Given the description of an element on the screen output the (x, y) to click on. 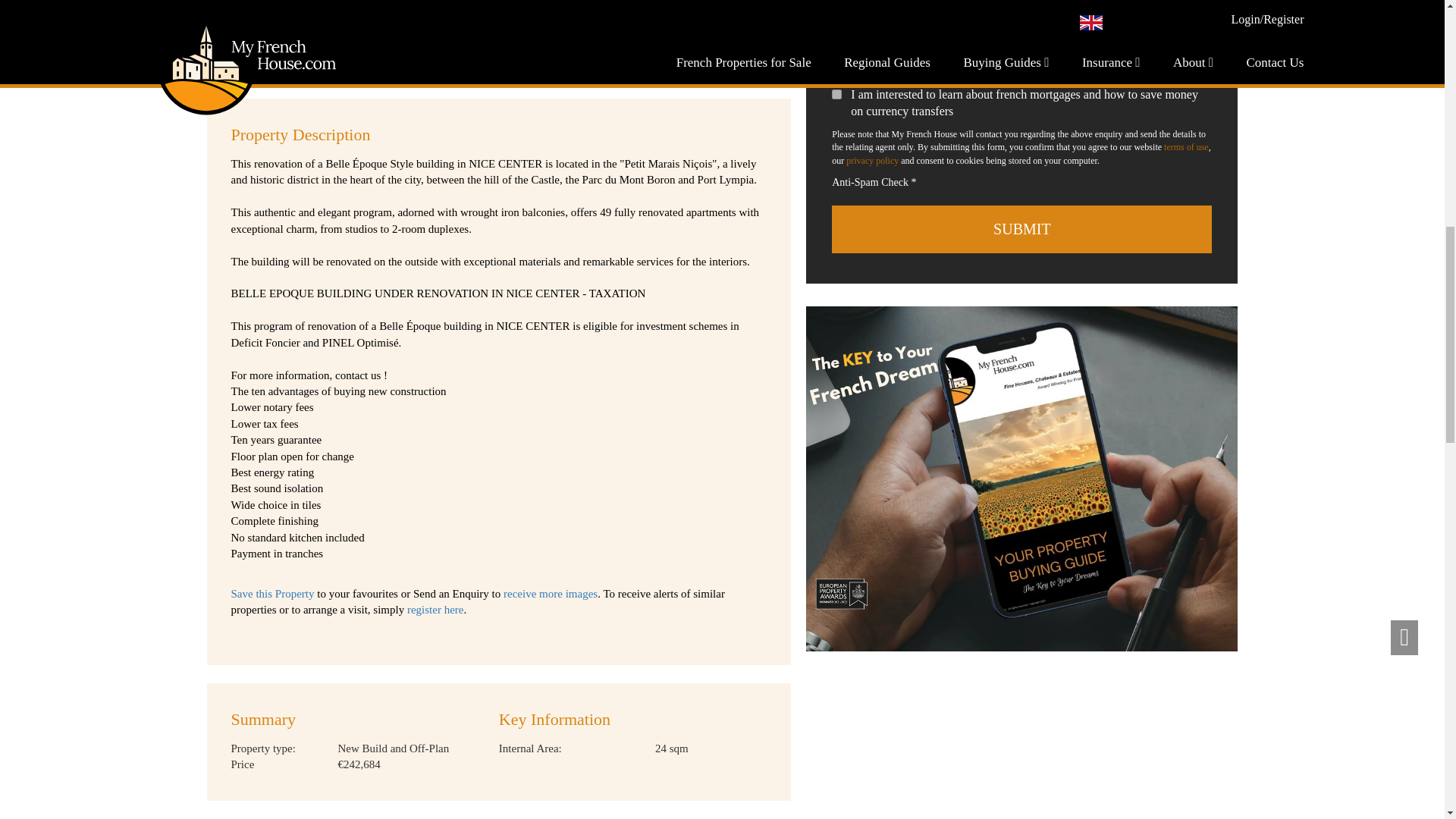
Property Page (1021, 477)
Yes (836, 94)
Yes (836, 51)
